Given the description of an element on the screen output the (x, y) to click on. 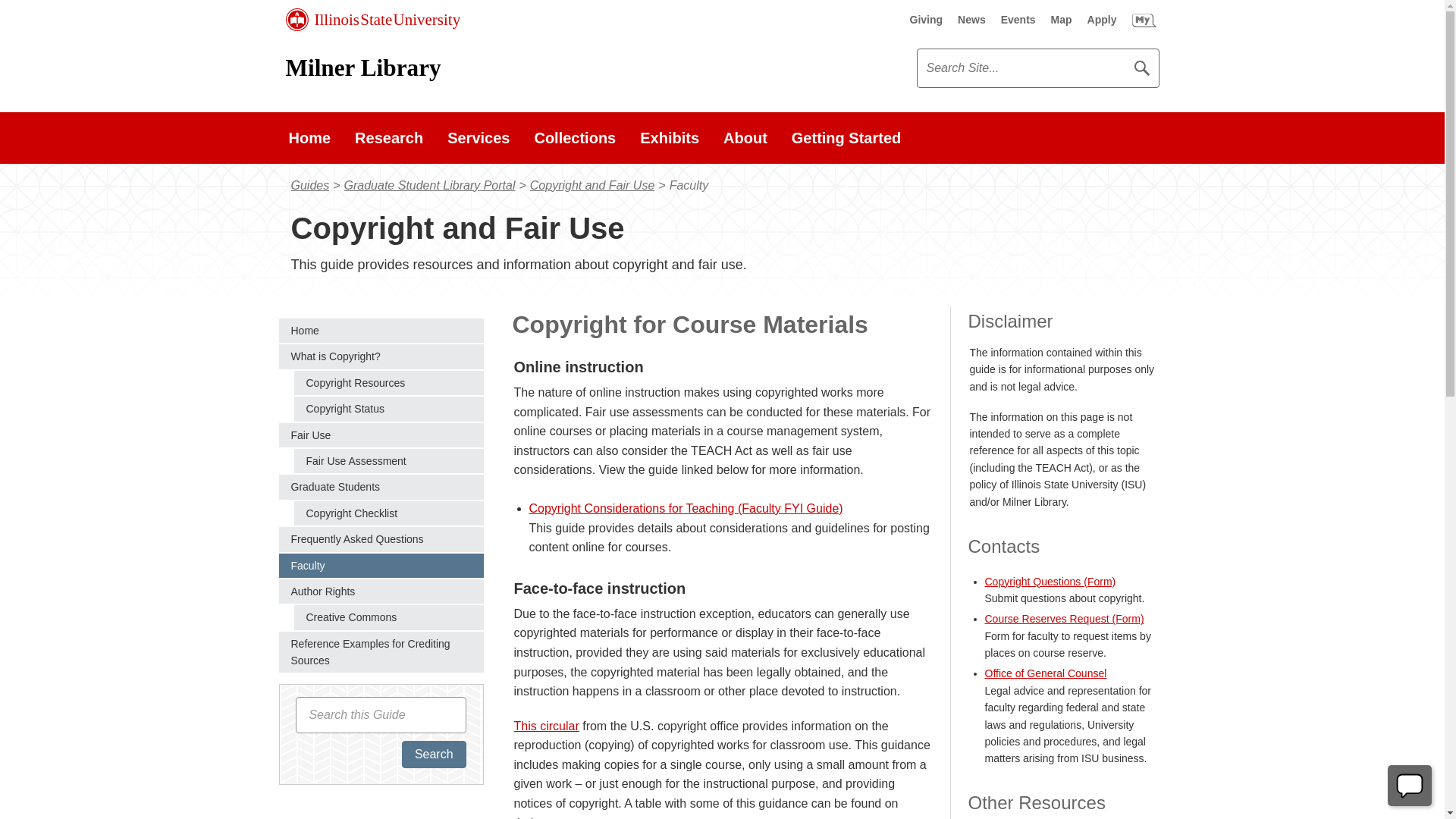
Copyright and Fair Use (592, 185)
News (971, 19)
Copyright Status (388, 408)
Home (309, 137)
This circular (546, 725)
Information about Creative Commons (388, 617)
Graduate Students (381, 486)
Faculty (381, 565)
A guide for understanding copyright and fair use. (381, 330)
